Given the description of an element on the screen output the (x, y) to click on. 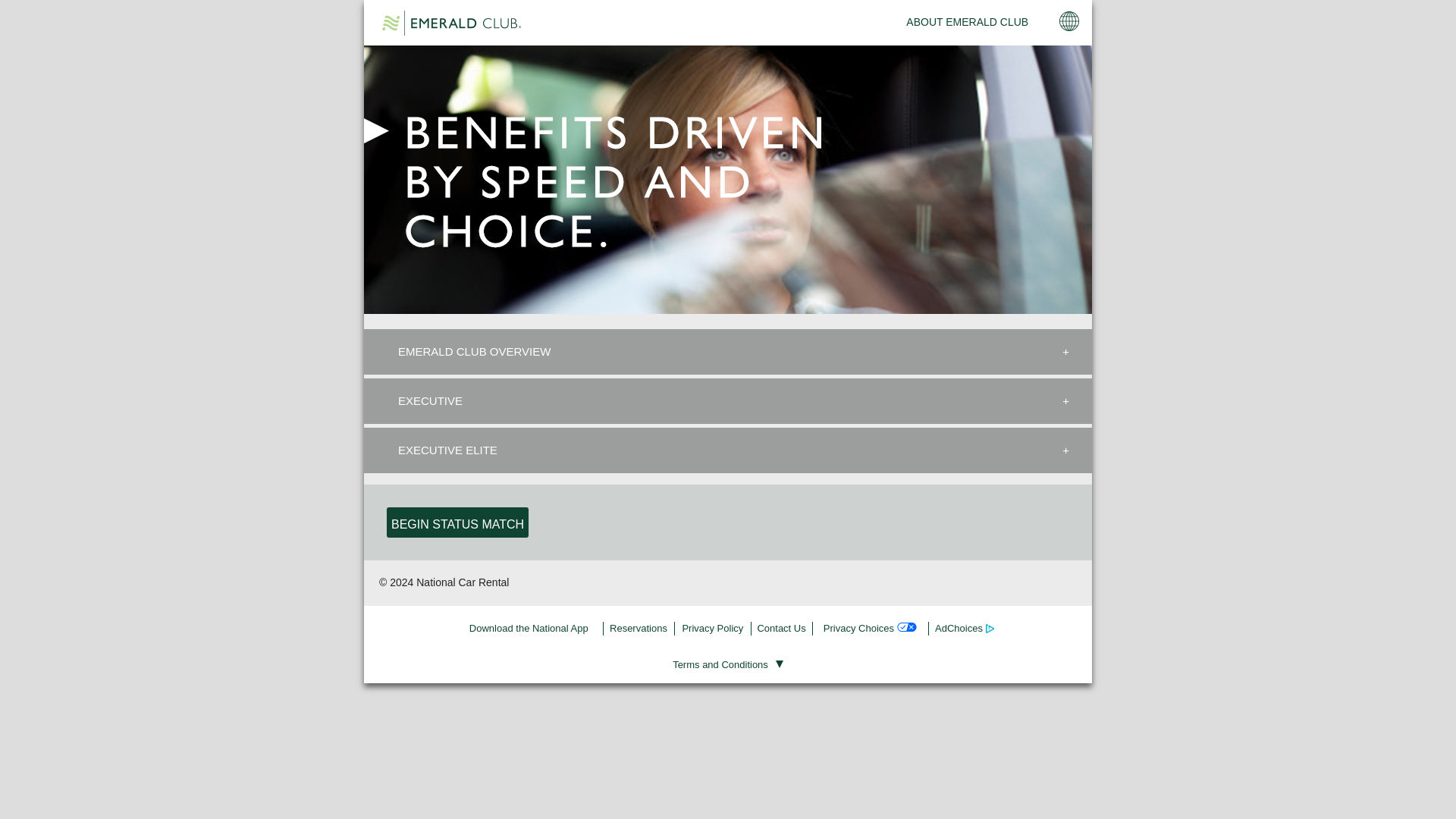
ABOUT EMERALD CLUB (966, 21)
Privacy Choices (870, 628)
BEGIN STATUS MATCH (457, 521)
Download the National App (529, 628)
AdChoices (964, 628)
BEGIN STATUS MATCH (457, 521)
Privacy Policy (712, 628)
Terms and Conditions (727, 664)
Emerald Club (451, 22)
Reservations (638, 628)
